Given the description of an element on the screen output the (x, y) to click on. 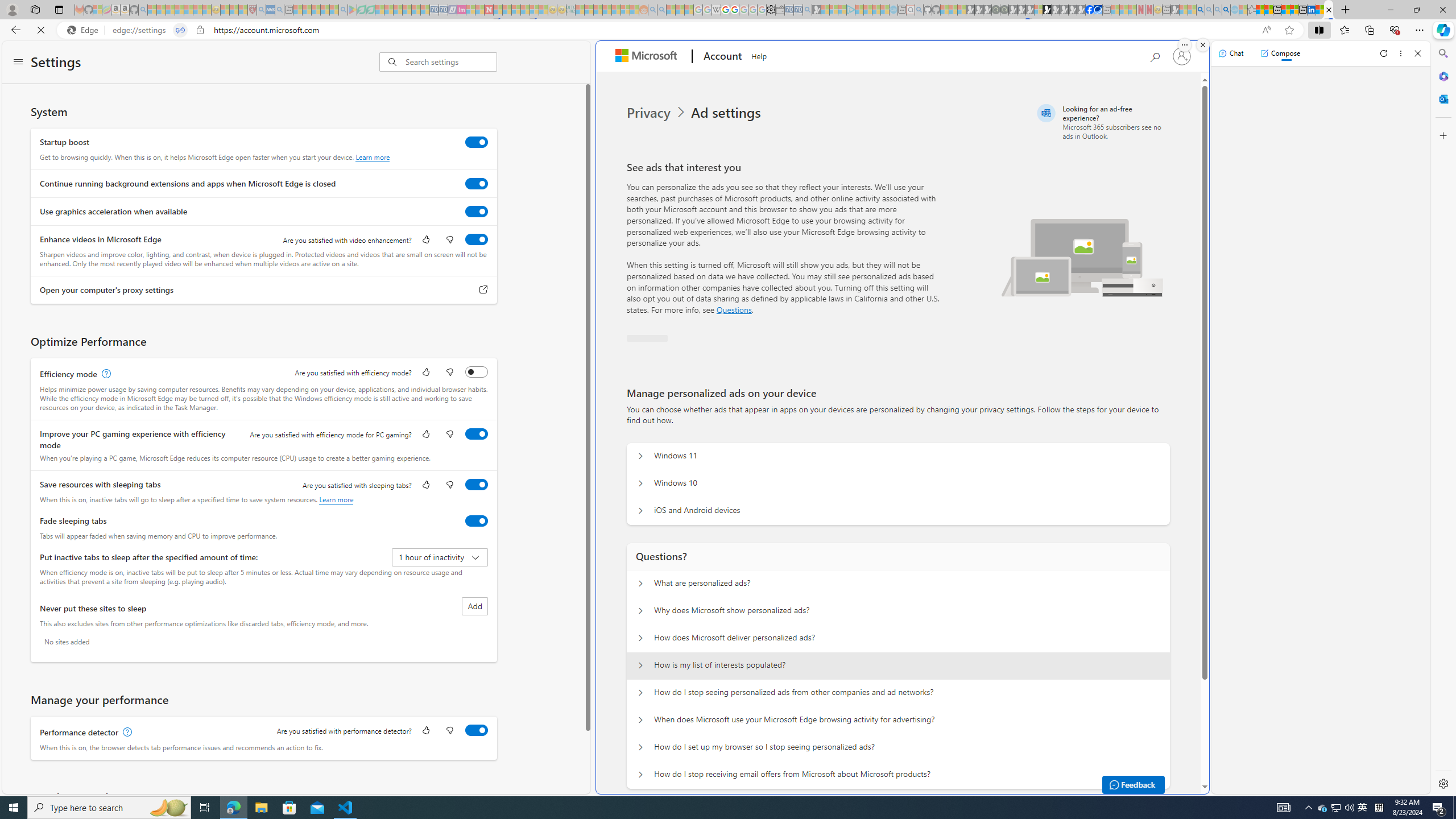
Go to Questions section (733, 309)
Home | Sky Blue Bikes - Sky Blue Bikes - Sleeping (892, 9)
Tabs in split screen (180, 29)
Improve your PC gaming experience with efficiency mode (476, 433)
